Given the description of an element on the screen output the (x, y) to click on. 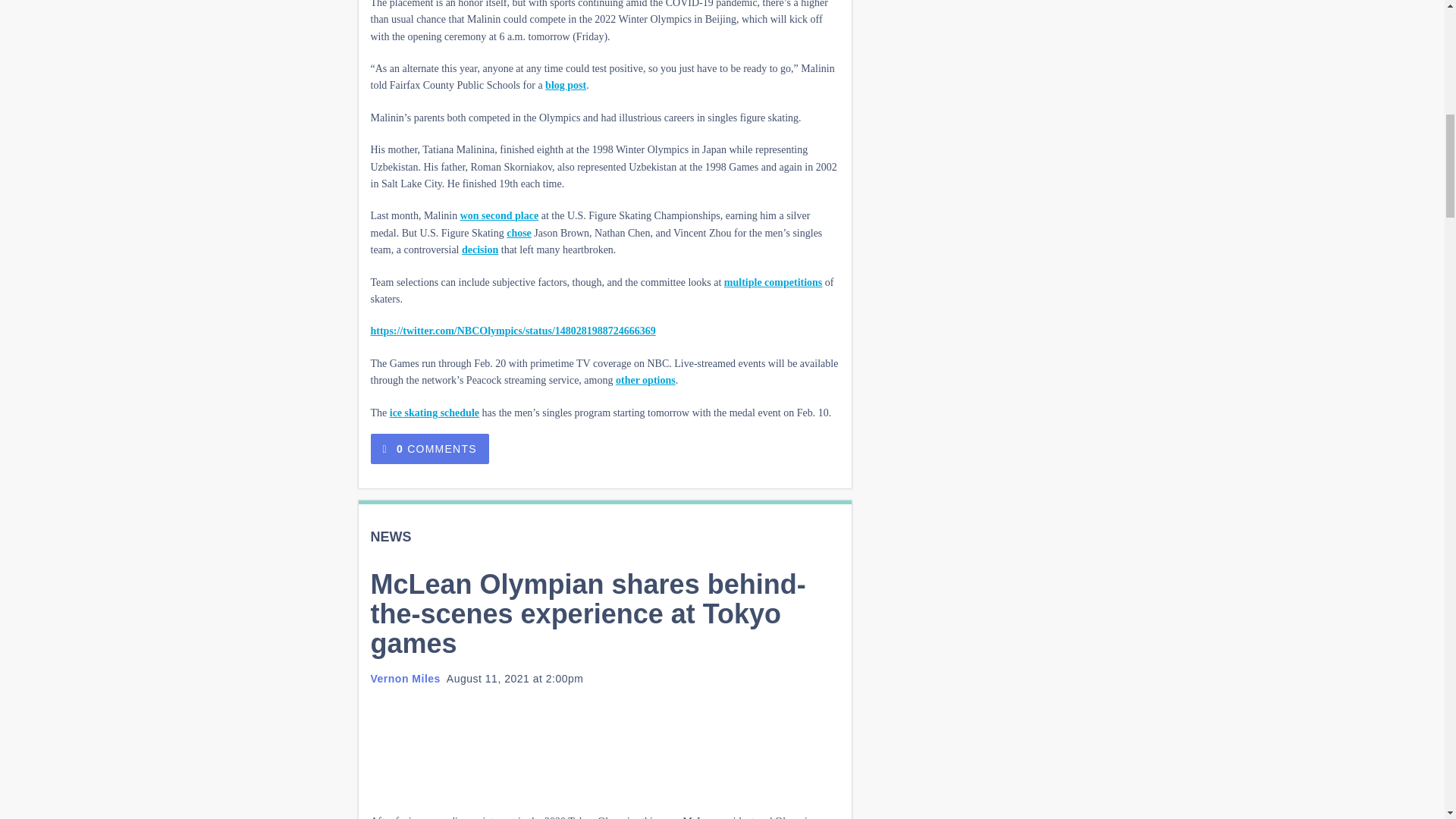
other options (645, 379)
decision (479, 249)
0 COMMENTS (428, 449)
chose (518, 233)
NEWS (389, 536)
ice skating schedule (434, 412)
won second place (499, 215)
multiple competitions (772, 282)
Posts by Vernon Miles (404, 678)
Vernon Miles (404, 678)
